Given the description of an element on the screen output the (x, y) to click on. 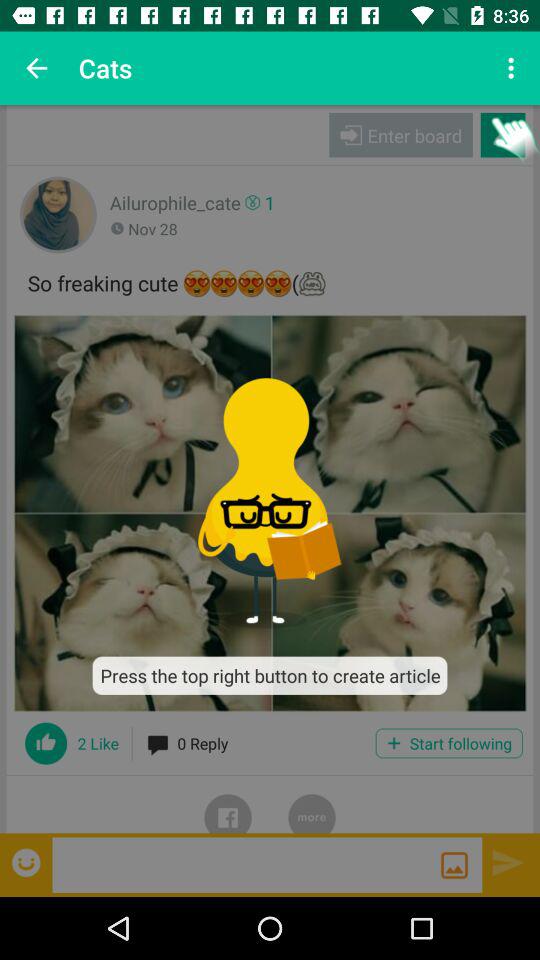
show more posts (312, 804)
